Given the description of an element on the screen output the (x, y) to click on. 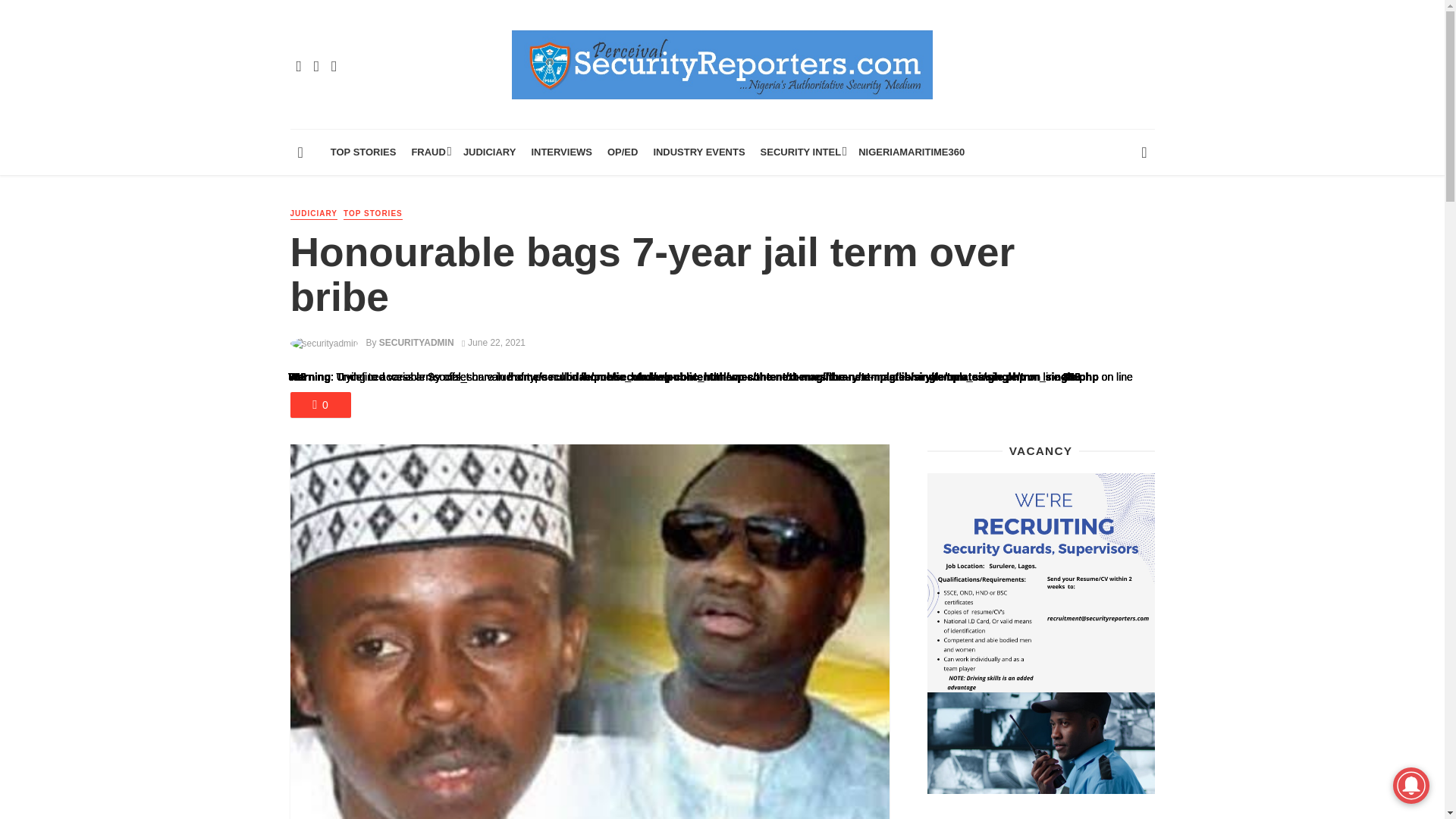
Posts by securityadmin (416, 342)
SECURITYADMIN (416, 342)
0 Comments (319, 404)
TOP STORIES (363, 152)
INDUSTRY EVENTS (698, 152)
NIGERIAMARITIME360 (911, 152)
JUDICIARY (313, 214)
June 22, 2021 at 5:20 pm (493, 342)
SECURITY INTEL (801, 152)
JUDICIARY (489, 152)
0 (319, 404)
INTERVIEWS (560, 152)
TOP STORIES (373, 214)
FRAUD (428, 152)
